Given the description of an element on the screen output the (x, y) to click on. 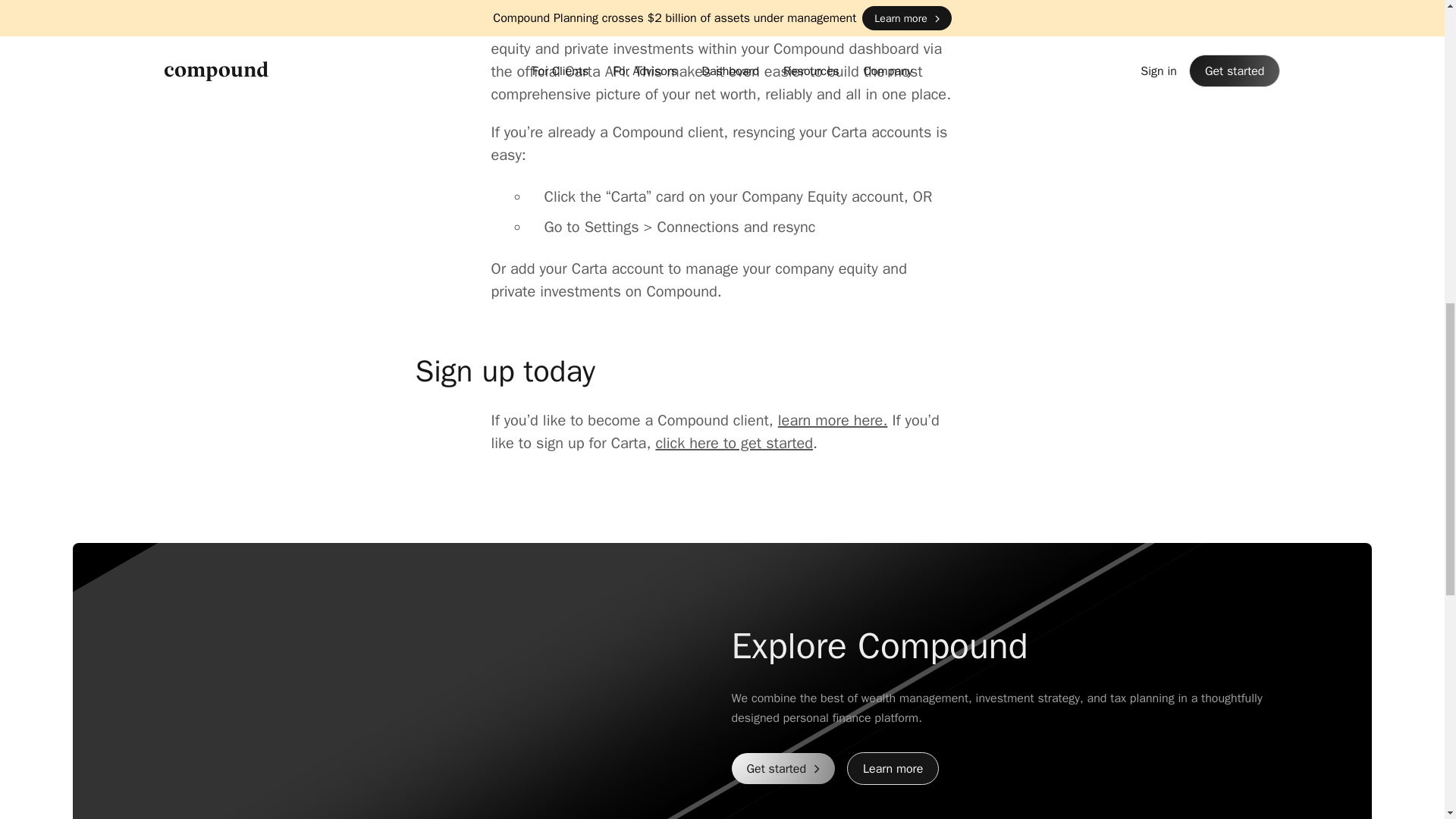
learn more here. (832, 420)
Learn more (893, 768)
Get started (782, 767)
click here to get started (733, 443)
